Given the description of an element on the screen output the (x, y) to click on. 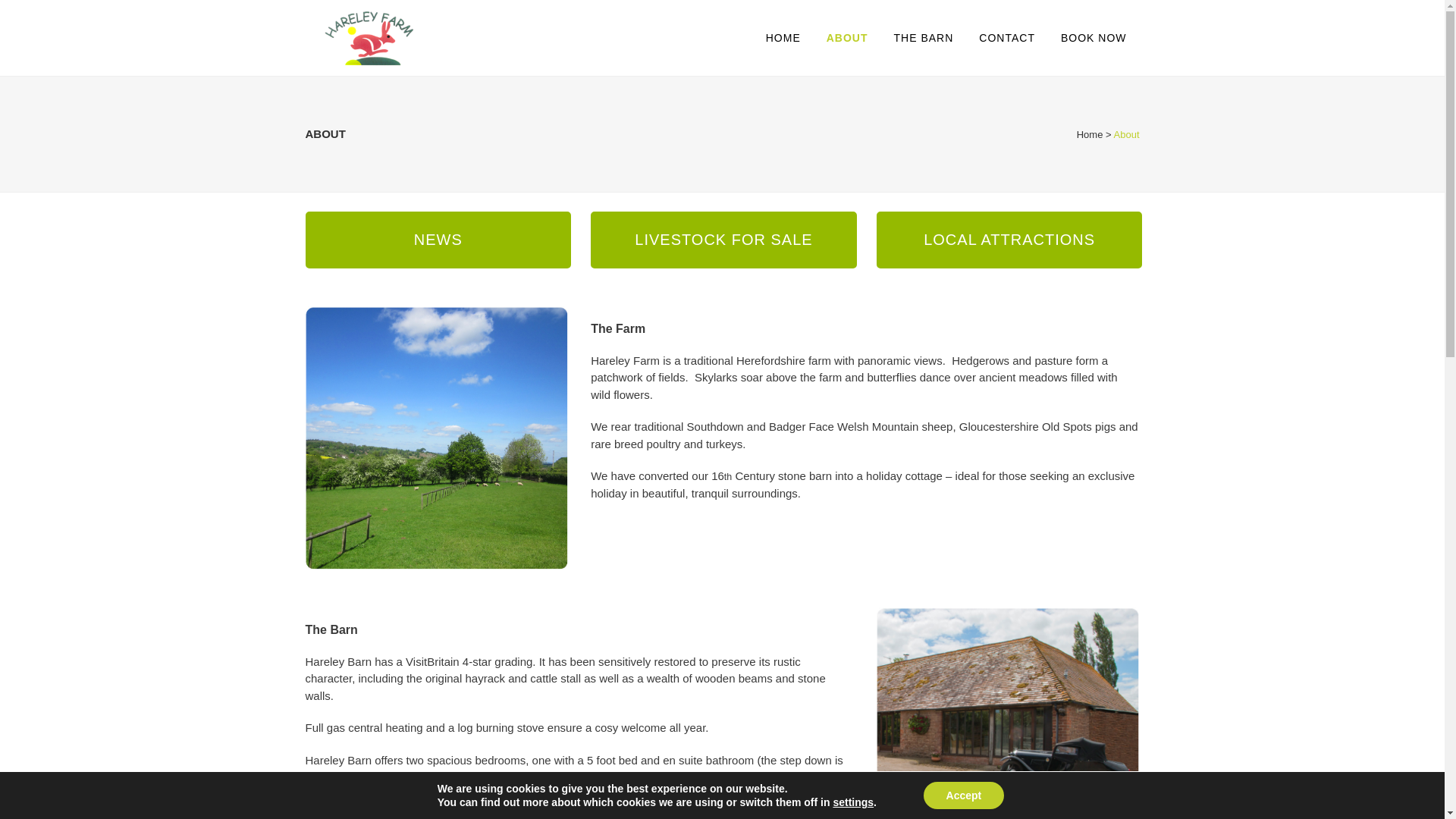
THE BARN (923, 38)
NEWS (437, 239)
Accept (963, 795)
LIVESTOCK FOR SALE (724, 239)
ABOUT (846, 38)
CONTACT (1007, 38)
BOOK NOW (1094, 38)
Home (1090, 134)
LOCAL ATTRACTIONS (1009, 239)
